Given the description of an element on the screen output the (x, y) to click on. 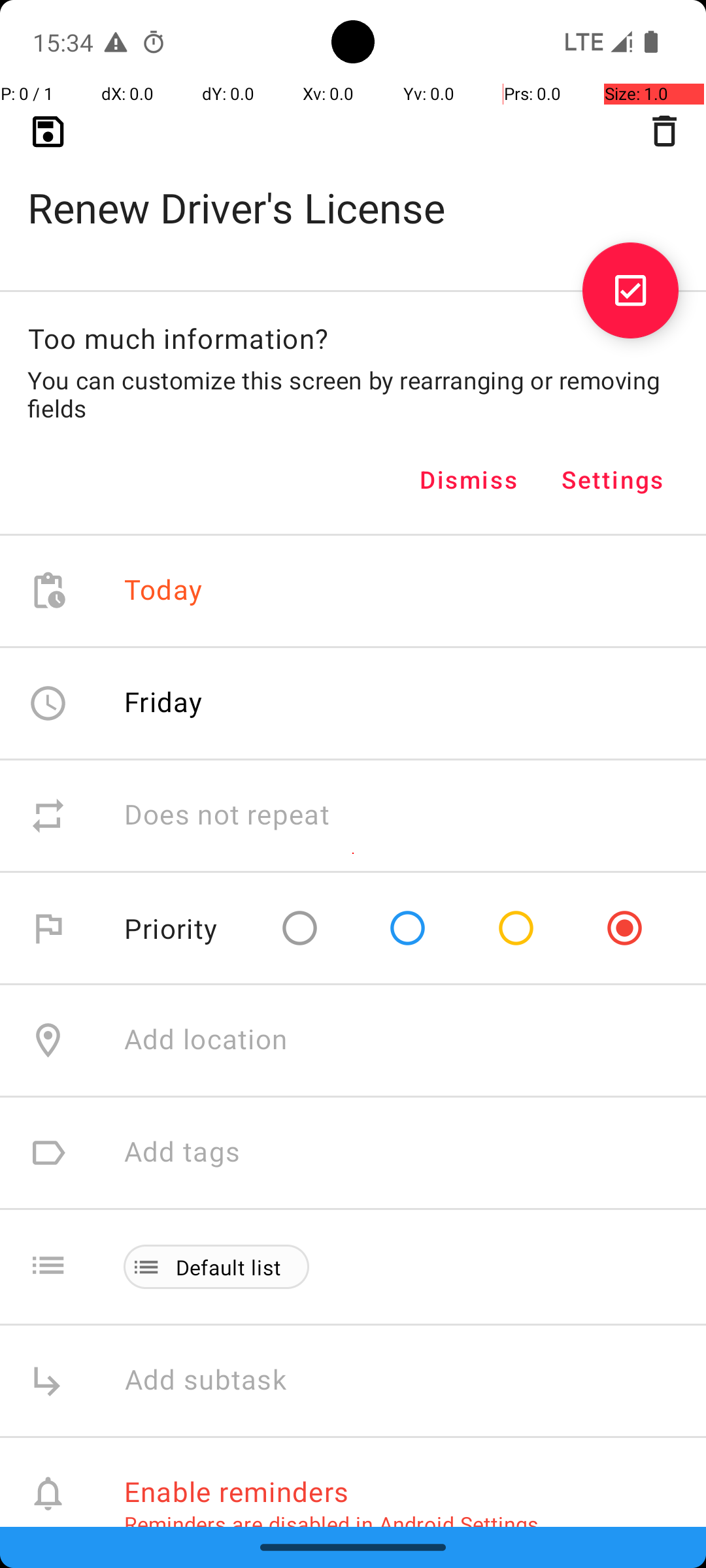
Renew Driver's License Element type: android.widget.EditText (353, 186)
Enable reminders Element type: android.widget.TextView (236, 1490)
Reminders are disabled in Android Settings Element type: android.widget.TextView (331, 1523)
